Given the description of an element on the screen output the (x, y) to click on. 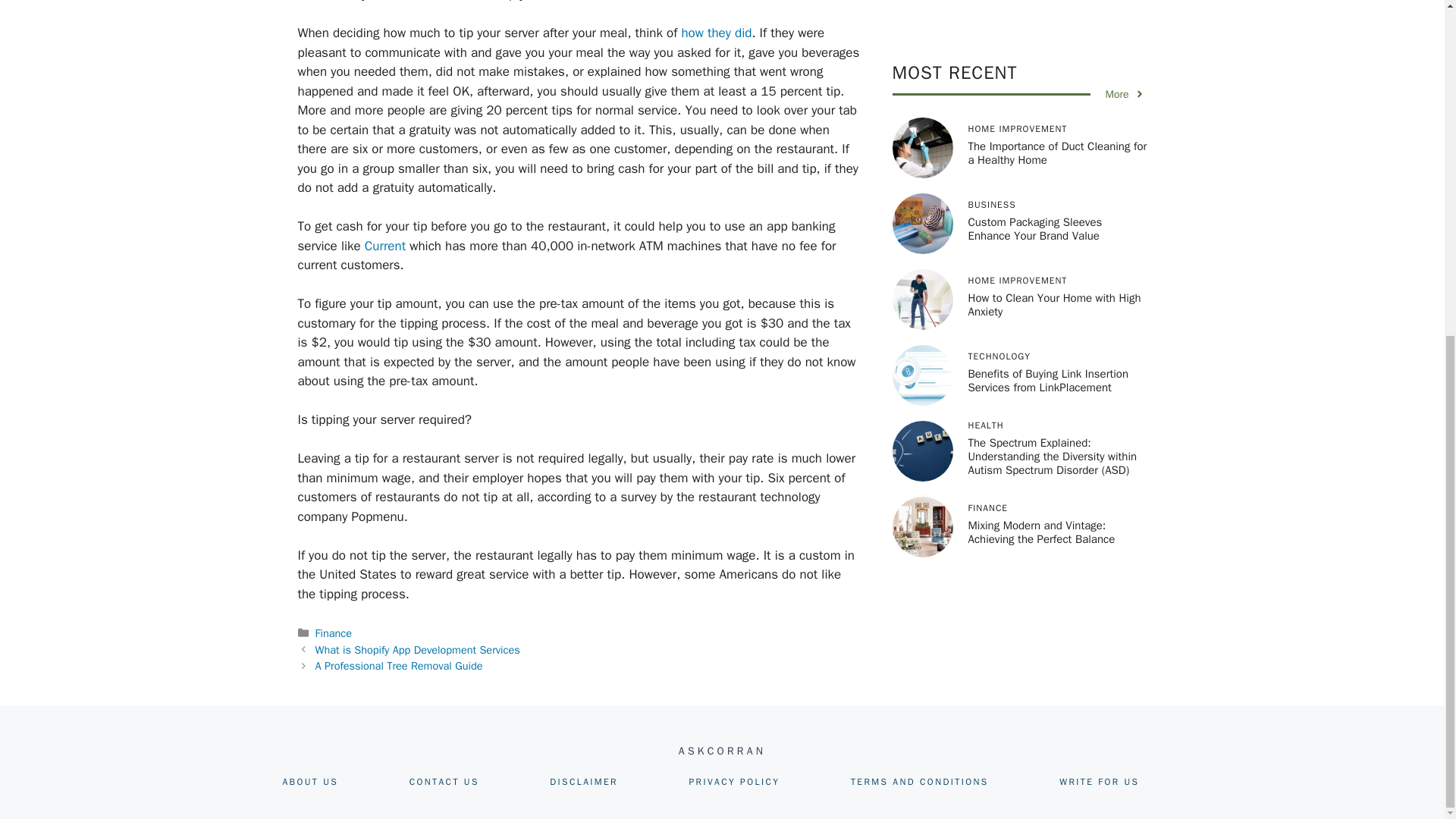
Finance (333, 632)
What is Shopify App Development Services (417, 649)
The Importance of Duct Cleaning for a Healthy Home (1057, 6)
Custom Packaging Sleeves Enhance Your Brand Value (1035, 75)
A Professional Tree Removal Guide (399, 665)
How to Clean Your Home with High Anxiety (1054, 151)
Current (385, 245)
how they did (716, 32)
